Given the description of an element on the screen output the (x, y) to click on. 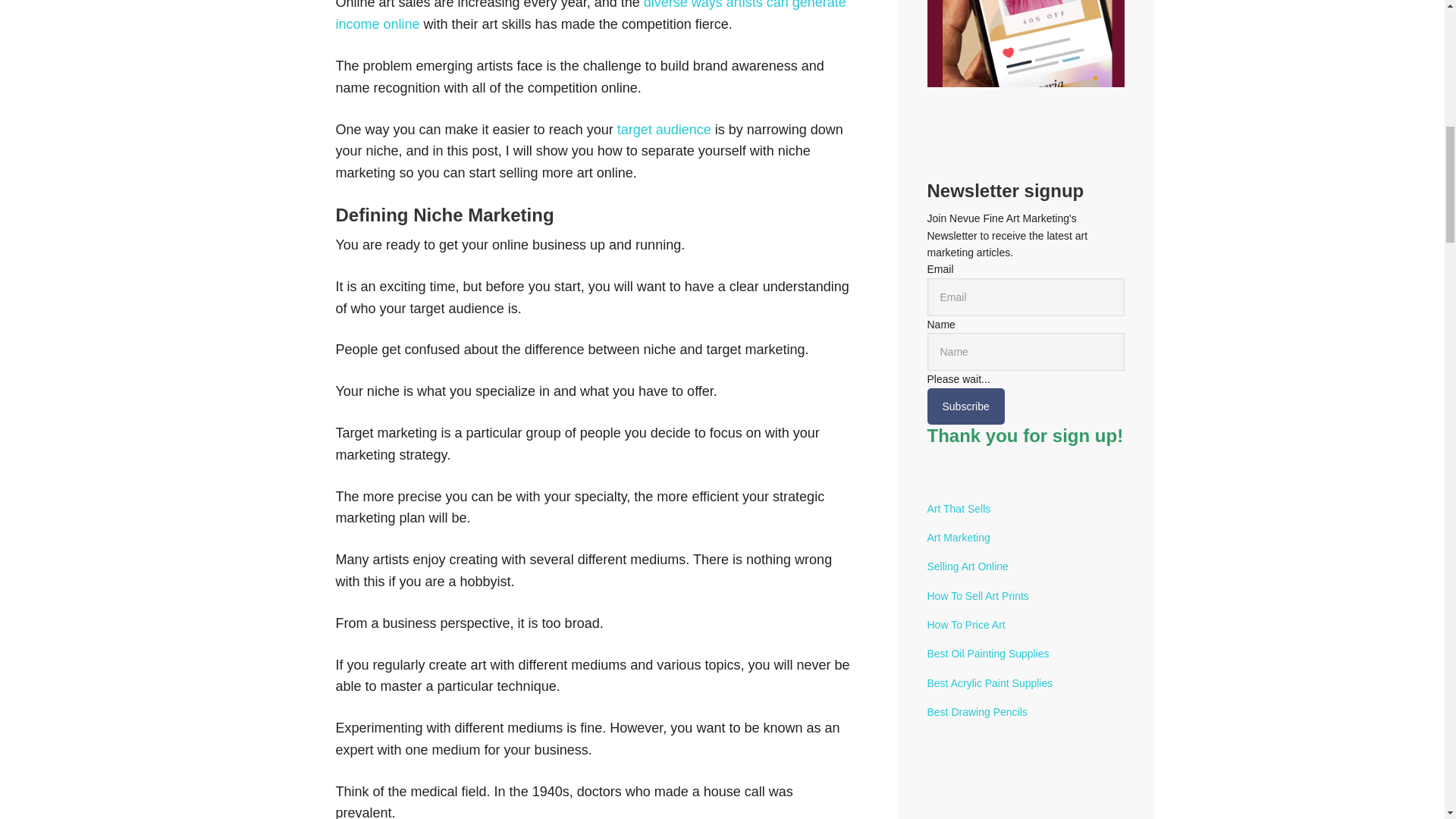
Art Marketing (958, 537)
Subscribe (965, 406)
target audience (664, 129)
Art That Sells (958, 508)
diverse ways artists can generate income online (589, 15)
